Given the description of an element on the screen output the (x, y) to click on. 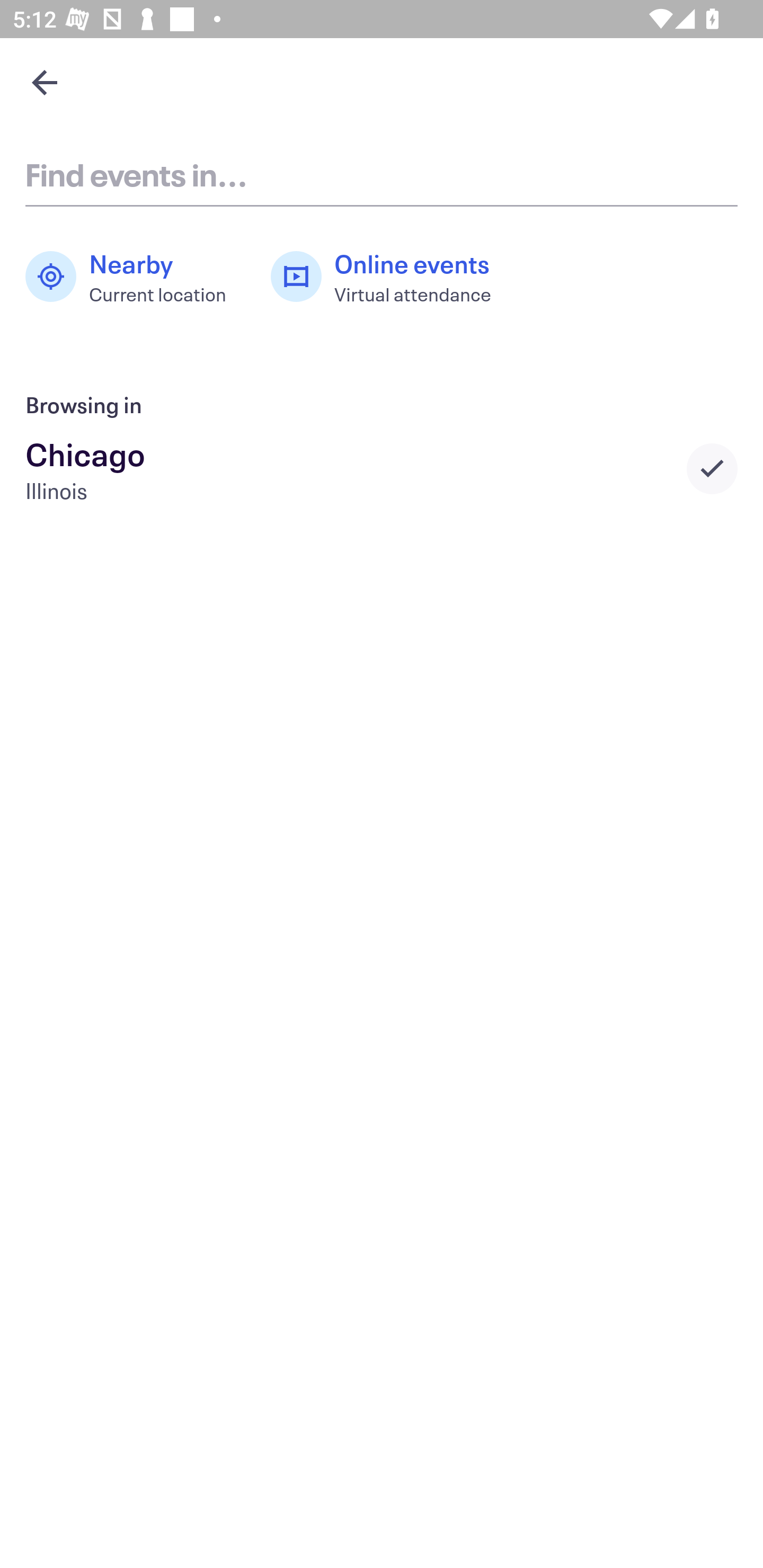
Navigate up (44, 82)
Find events in... (381, 173)
Nearby Current location (135, 276)
Online events Virtual attendance (390, 276)
Chicago Illinois Selected city (381, 468)
